Given the description of an element on the screen output the (x, y) to click on. 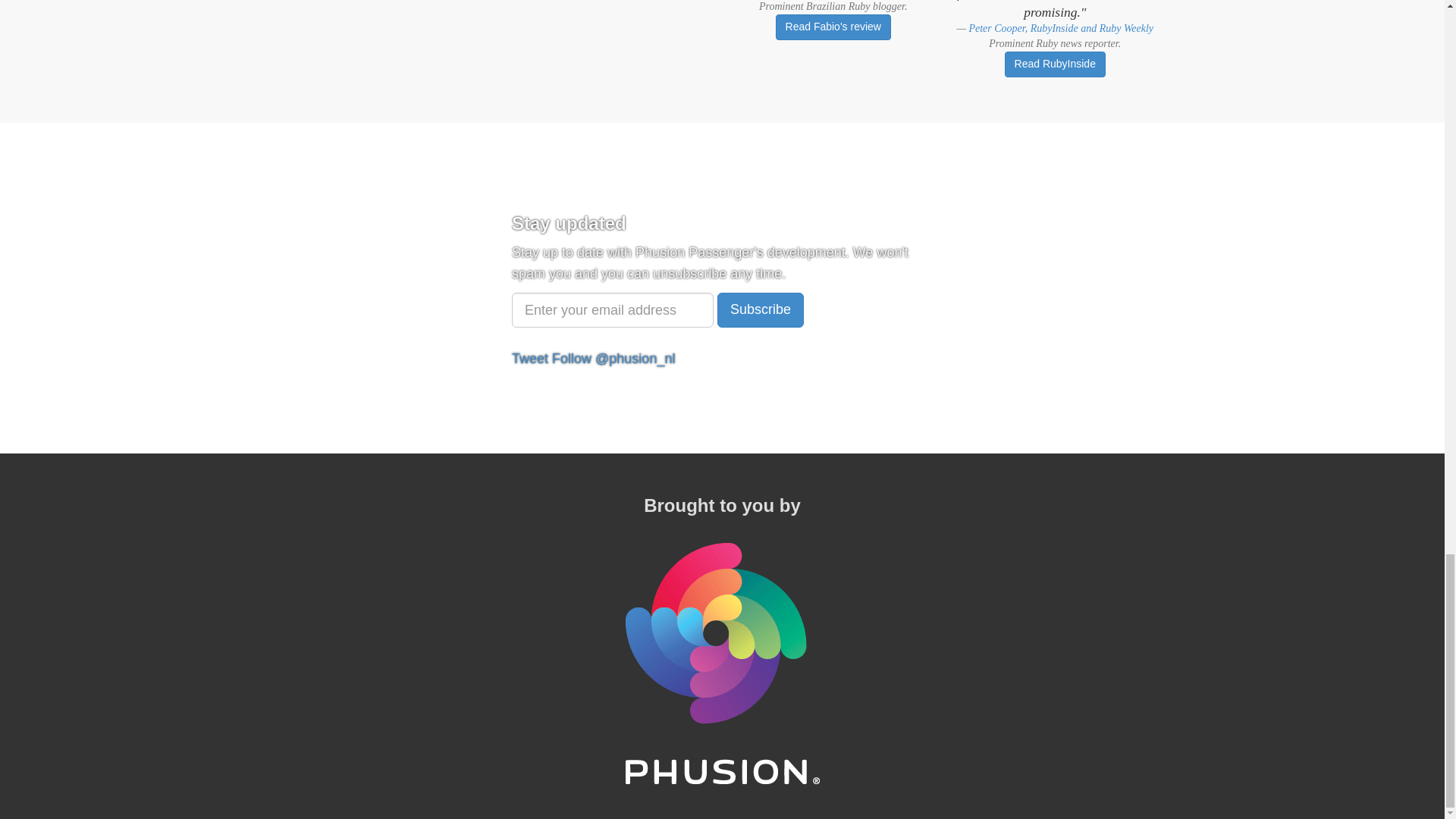
Peter Cooper, RubyInside and Ruby Weekly (1060, 28)
Tweet (530, 358)
Subscribe (760, 309)
Subscribe (760, 309)
Read RubyInside (1054, 63)
Read Fabio's review (833, 27)
